Given the description of an element on the screen output the (x, y) to click on. 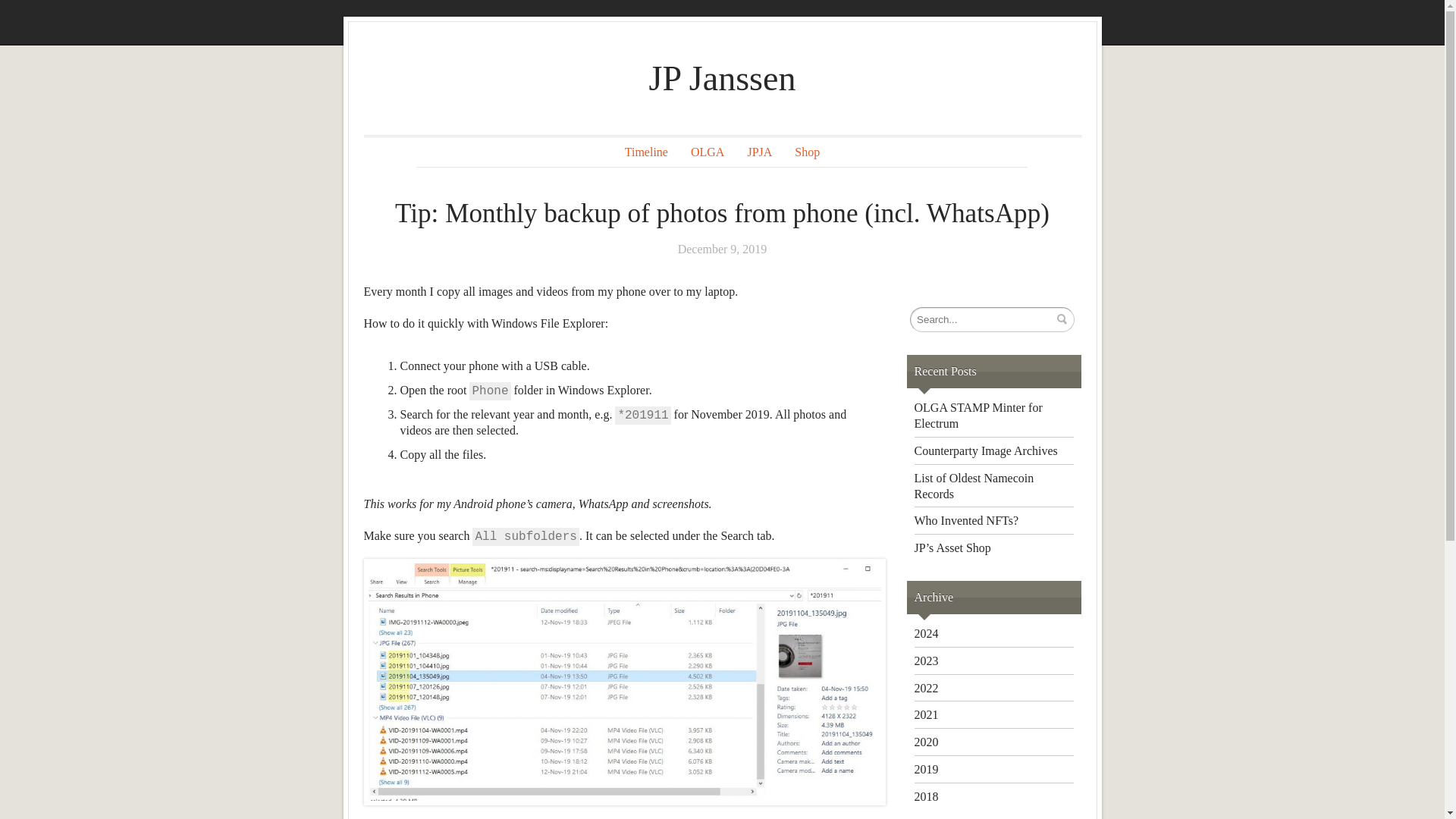
2023 (926, 660)
JP Janssen (722, 77)
Who Invented NFTs? (966, 520)
2021 (926, 714)
December 9, 2019 (722, 249)
Timeline (646, 152)
2018 (926, 796)
OLGA (707, 152)
2024 (926, 633)
2020 (926, 741)
JPJA (758, 152)
Home (722, 77)
List of Oldest Namecoin Records (973, 485)
OLGA STAMP Minter for Electrum (978, 415)
Shop (806, 152)
